Given the description of an element on the screen output the (x, y) to click on. 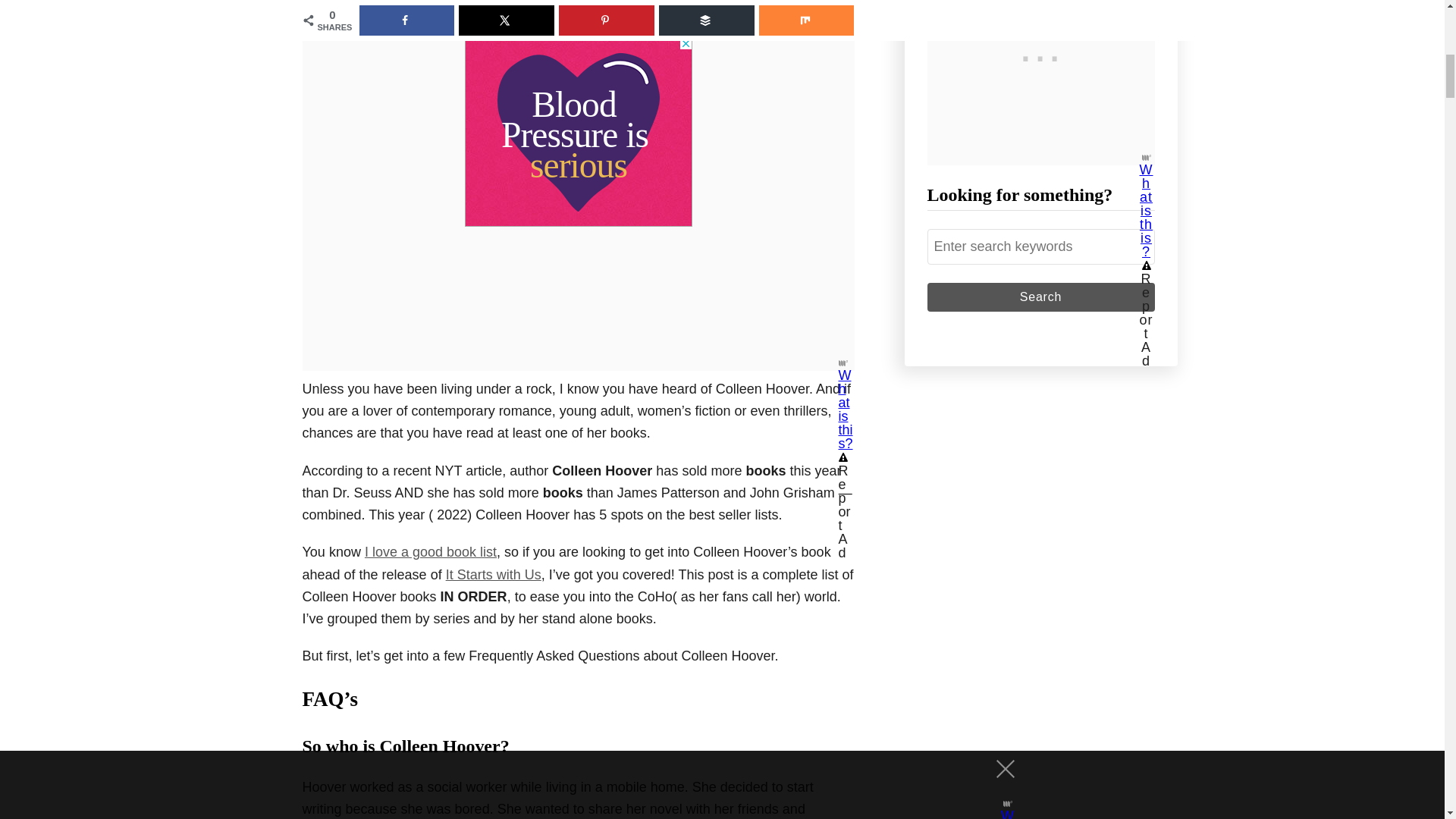
It Starts with Us (493, 574)
Search for: (1040, 246)
3rd party ad content (577, 131)
Search (1040, 297)
Search (1040, 297)
3rd party ad content (1040, 498)
I love a good book list (430, 551)
